Given the description of an element on the screen output the (x, y) to click on. 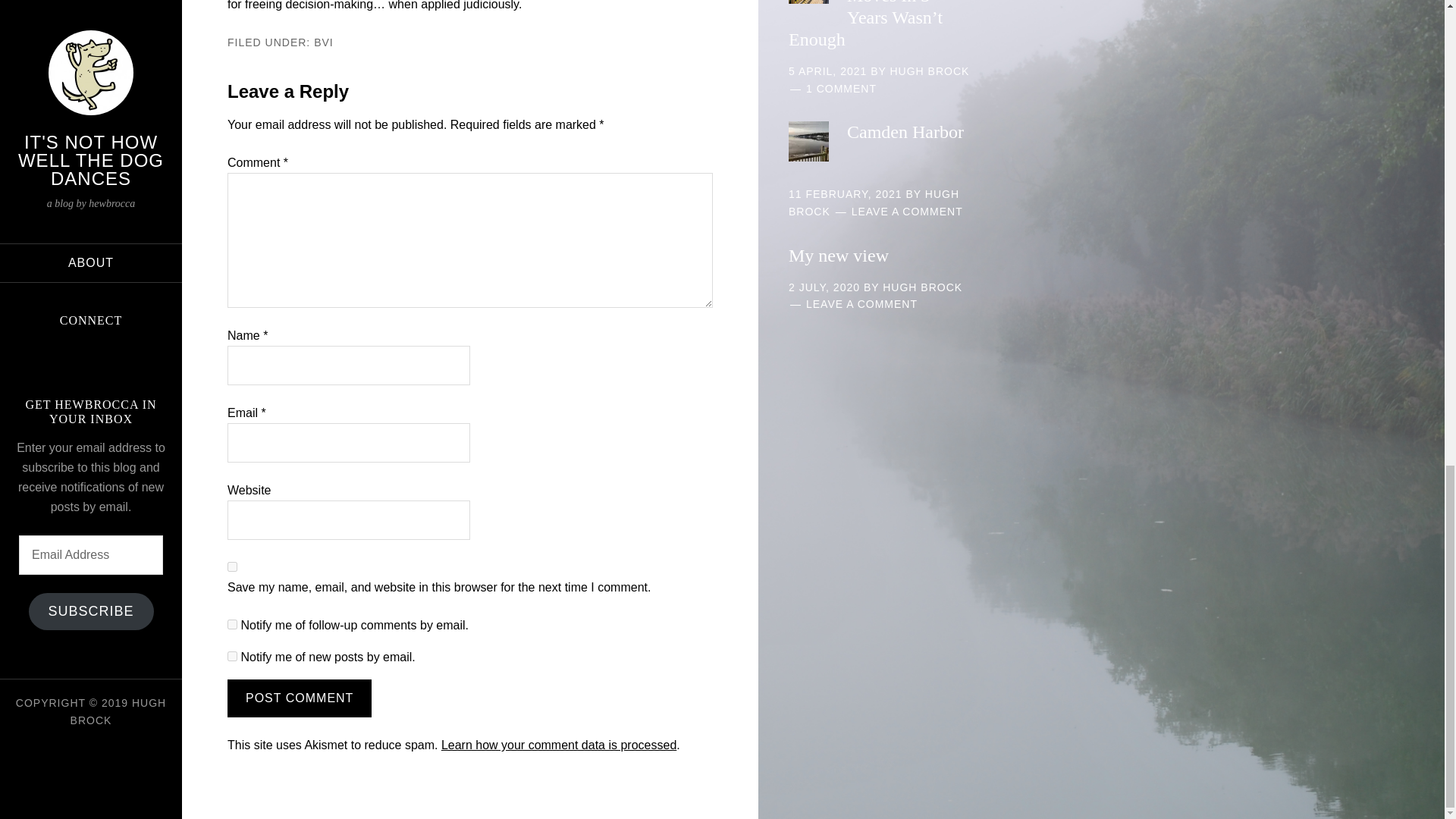
Learn how your comment data is processed (559, 744)
subscribe (232, 655)
yes (232, 566)
subscribe (232, 624)
BVI (323, 42)
Post Comment (299, 698)
Post Comment (299, 698)
